Given the description of an element on the screen output the (x, y) to click on. 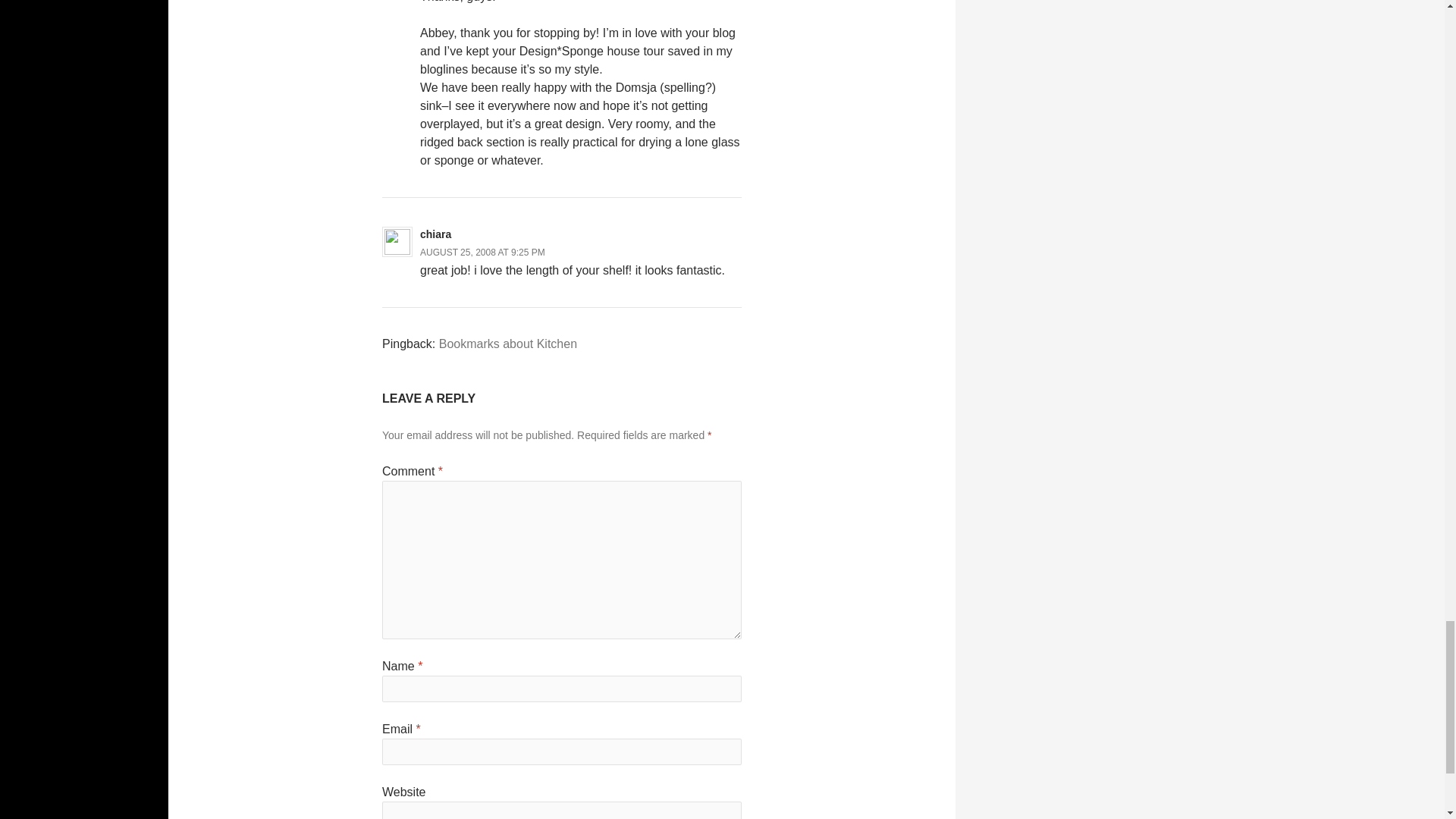
chiara (435, 234)
Bookmarks about Kitchen (507, 343)
AUGUST 25, 2008 AT 9:25 PM (482, 252)
